Given the description of an element on the screen output the (x, y) to click on. 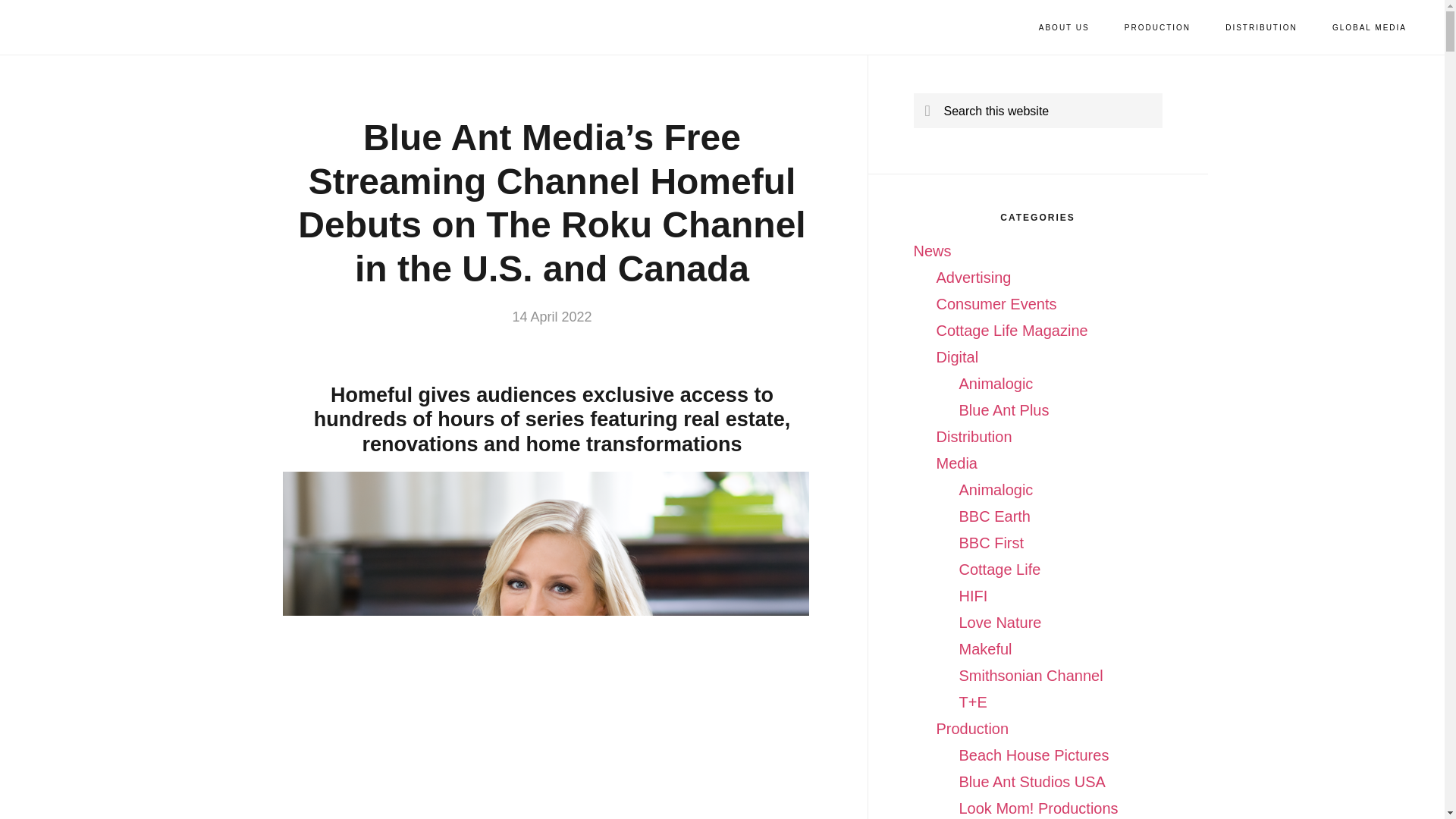
News (931, 250)
Consumer Events (996, 303)
Advertising (973, 277)
ABOUT US (1064, 27)
Animalogic (995, 383)
Cottage Life Magazine (1011, 330)
Blue Ant Plus (1003, 410)
DISTRIBUTION (1261, 27)
PRODUCTION (1157, 27)
BLUE ANT MEDIA (98, 26)
Digital (957, 356)
GLOBAL MEDIA (1369, 27)
Distribution (973, 436)
